Given the description of an element on the screen output the (x, y) to click on. 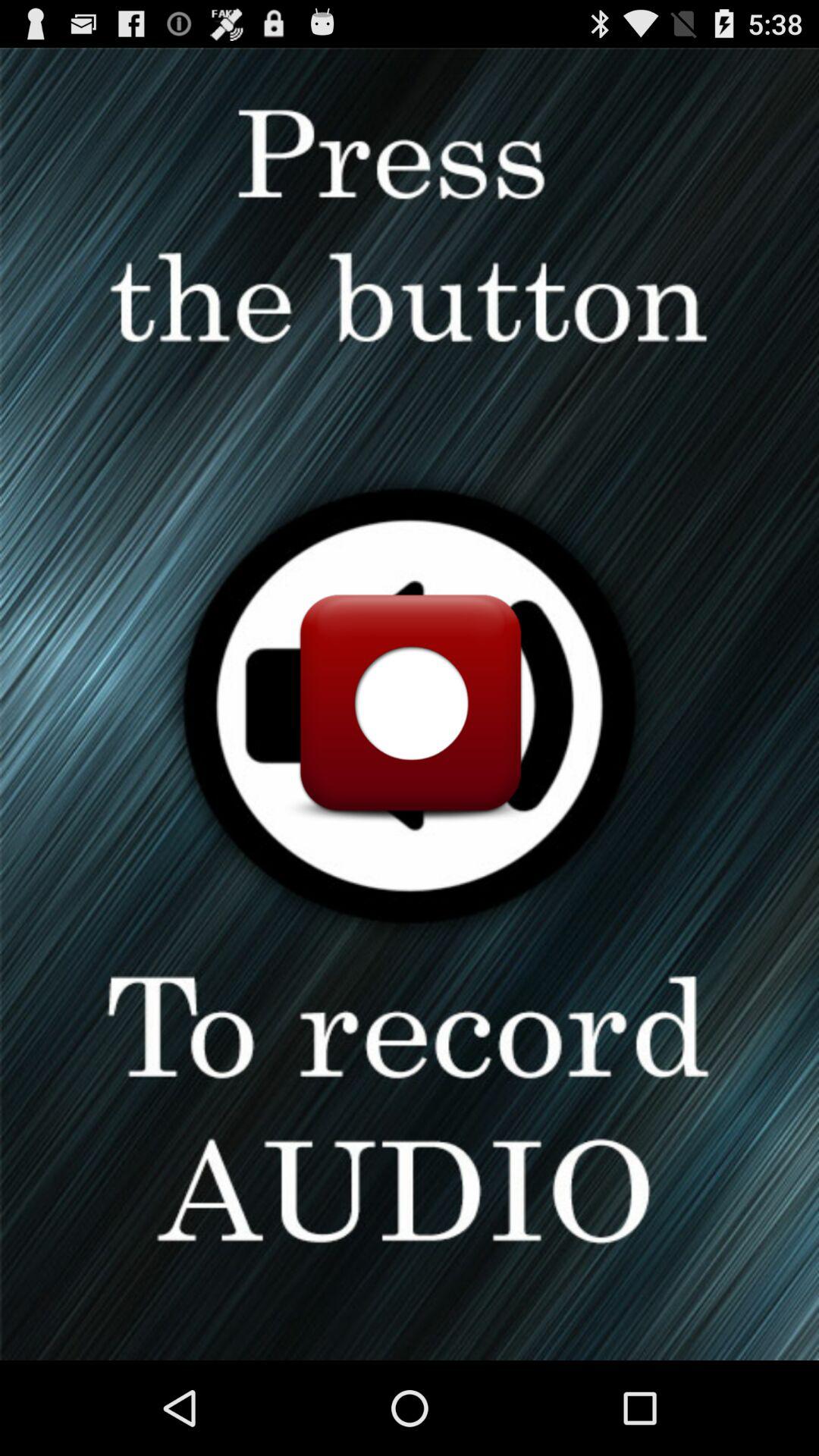
record audio (409, 703)
